Given the description of an element on the screen output the (x, y) to click on. 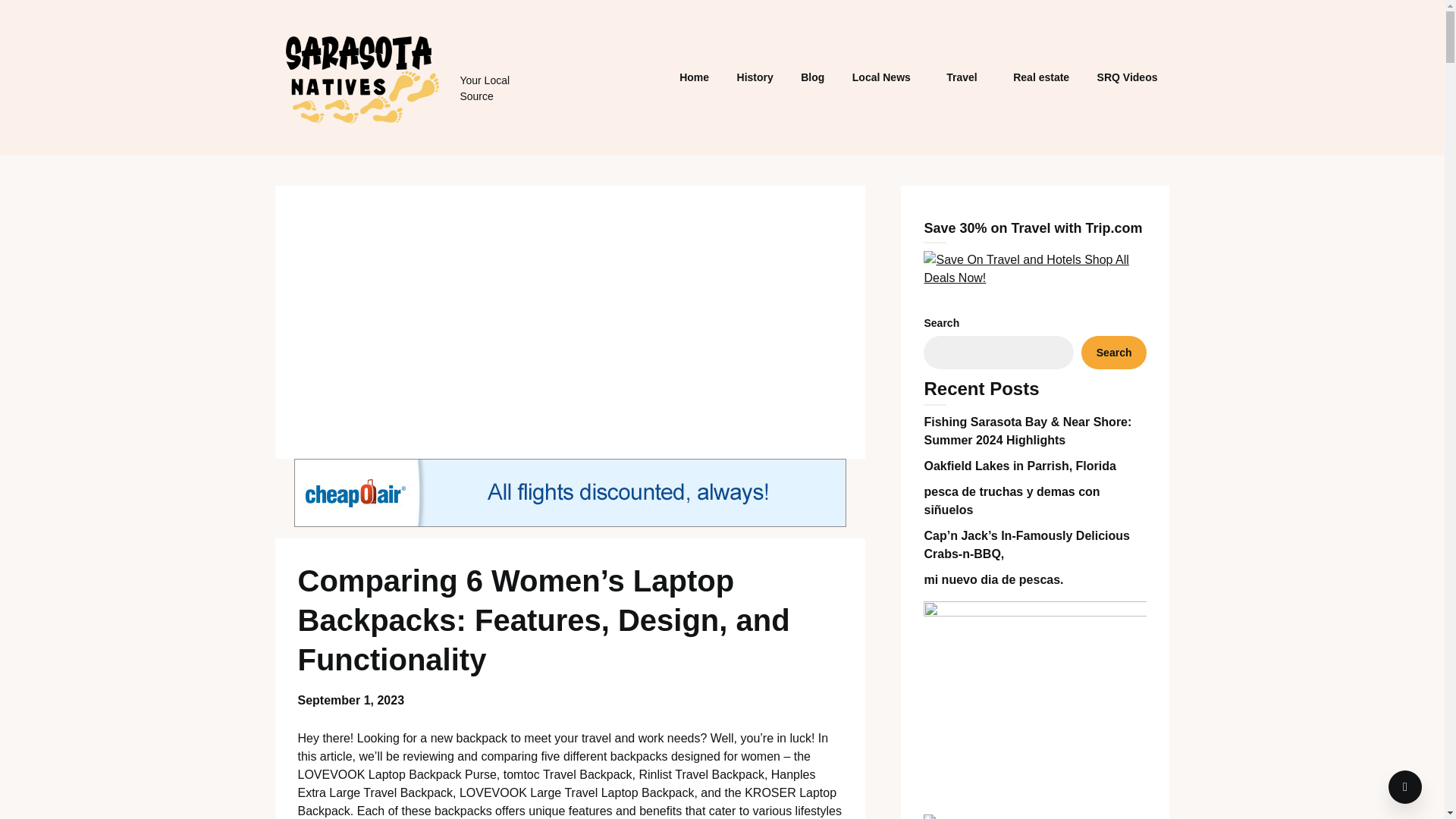
September 1, 2023 (350, 699)
SRQ Videos (1127, 77)
Travel (961, 77)
Home (693, 77)
Real estate (1041, 77)
History (755, 77)
Blog (812, 77)
Local News (881, 77)
